Given the description of an element on the screen output the (x, y) to click on. 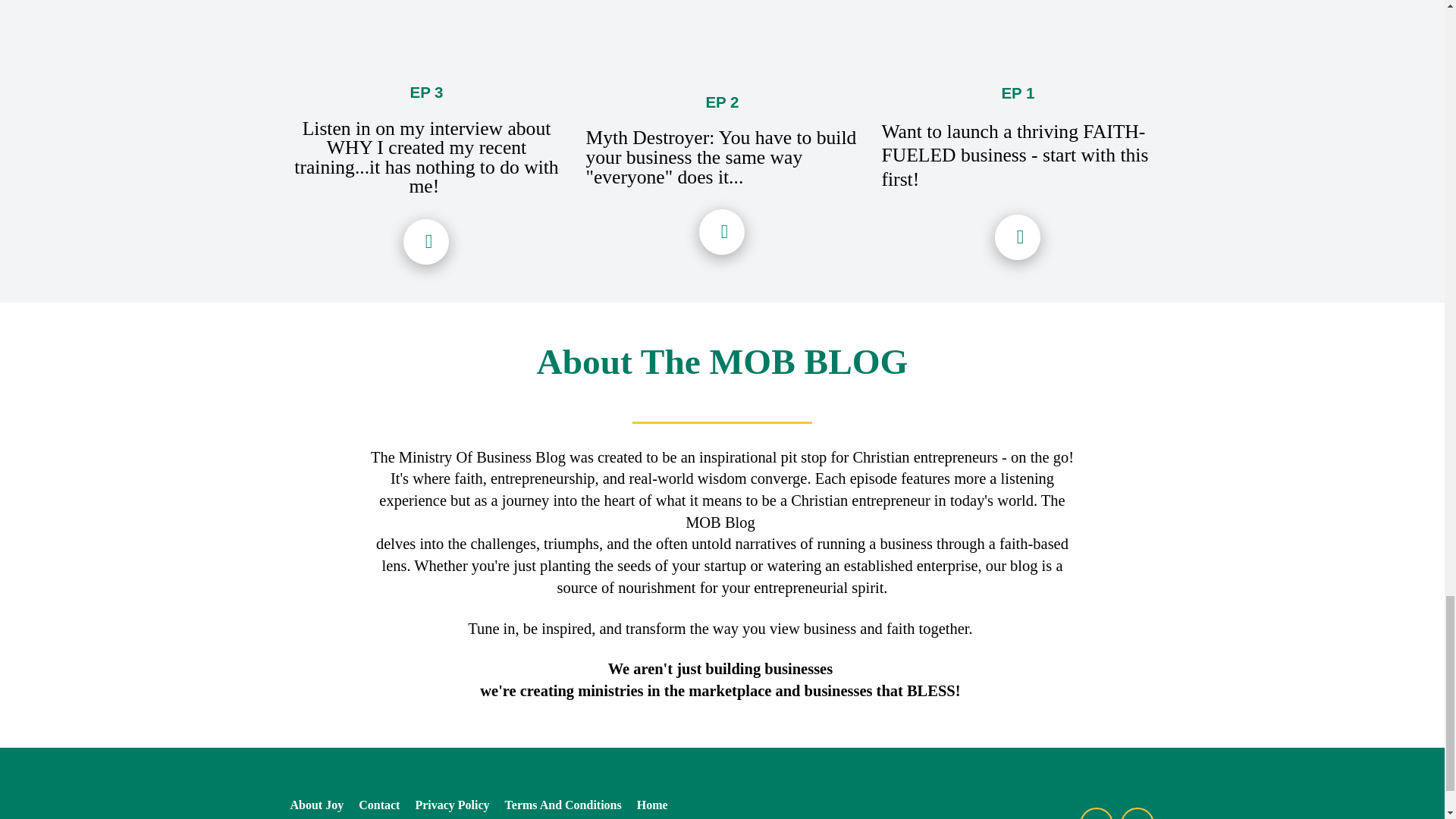
Contact (378, 805)
Terms And Conditions (562, 805)
Home (648, 805)
Privacy Policy (451, 805)
About Joy (319, 805)
